Given the description of an element on the screen output the (x, y) to click on. 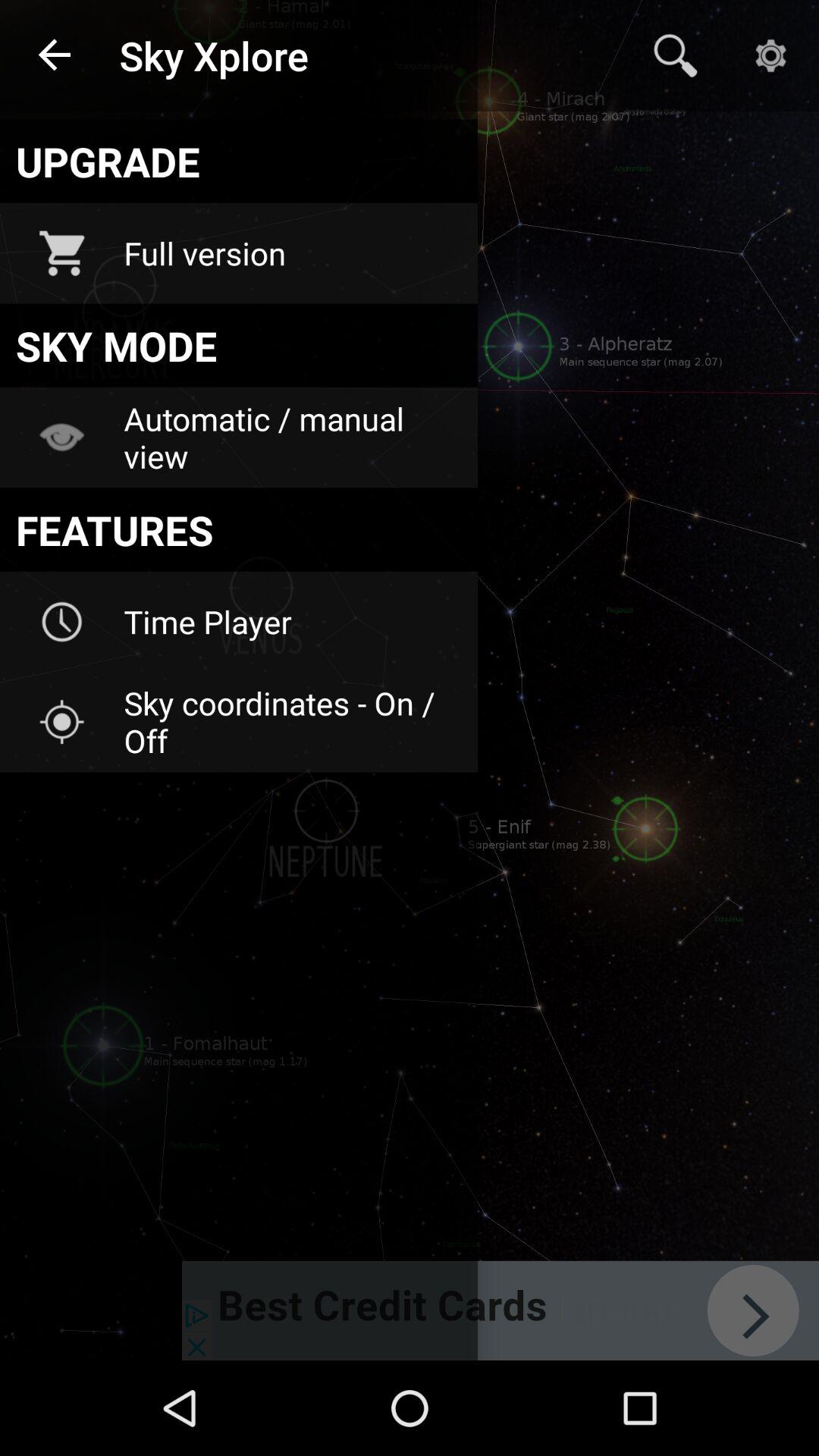
tap the item next to the sky xplore icon (55, 55)
